Given the description of an element on the screen output the (x, y) to click on. 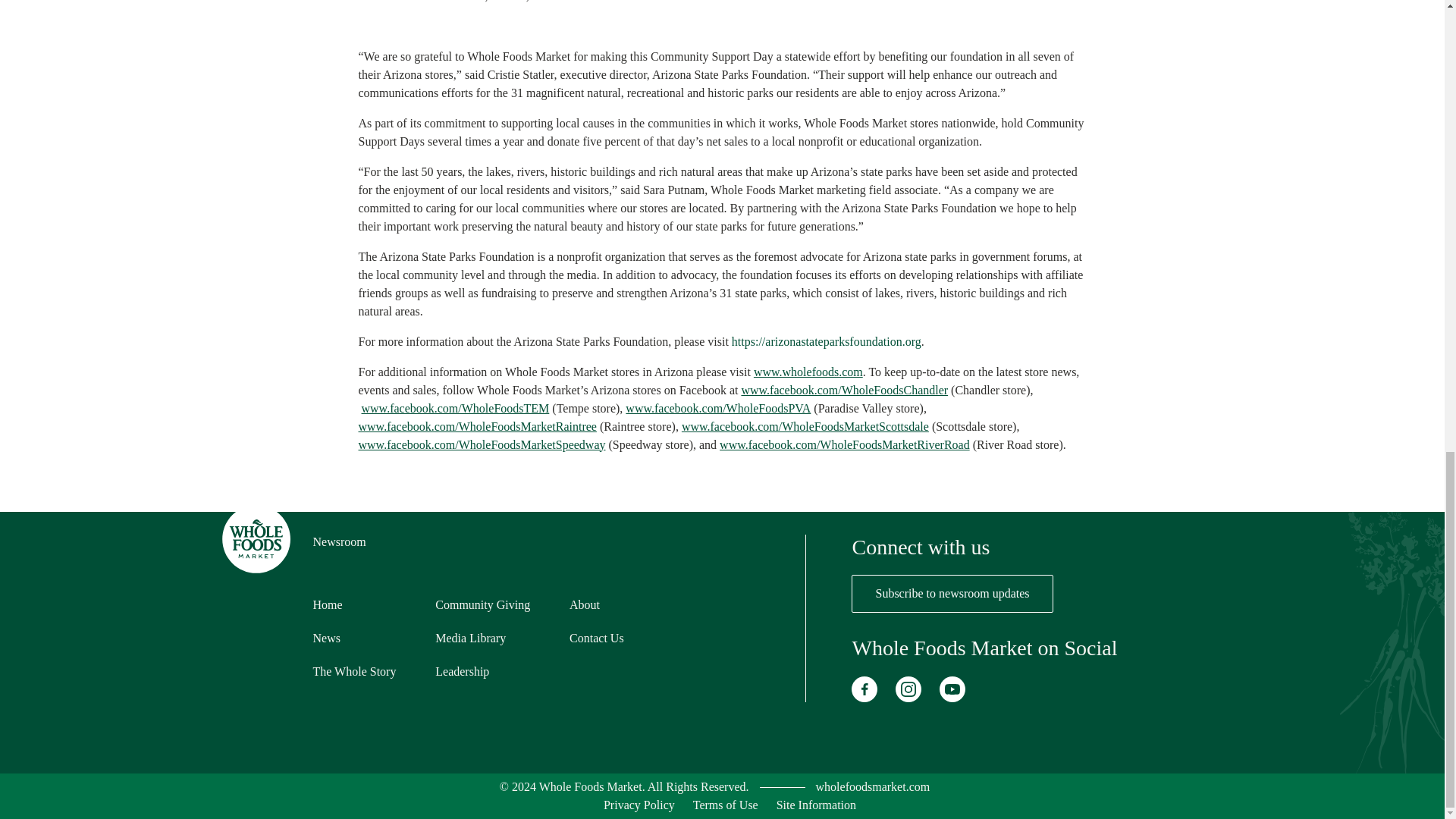
Privacy Policy (639, 804)
Media Library (470, 637)
Leadership (462, 671)
Subscribe (951, 593)
Community Giving (482, 604)
www.wholefoods.com (808, 371)
Subscribe to newsroom updates (951, 593)
Contact Us (596, 637)
News (326, 637)
wholefoodsmarket.com (872, 786)
About (584, 604)
Home (327, 604)
Whole Foods Market (872, 786)
Terms of Use (725, 804)
The Whole Story (354, 671)
